Given the description of an element on the screen output the (x, y) to click on. 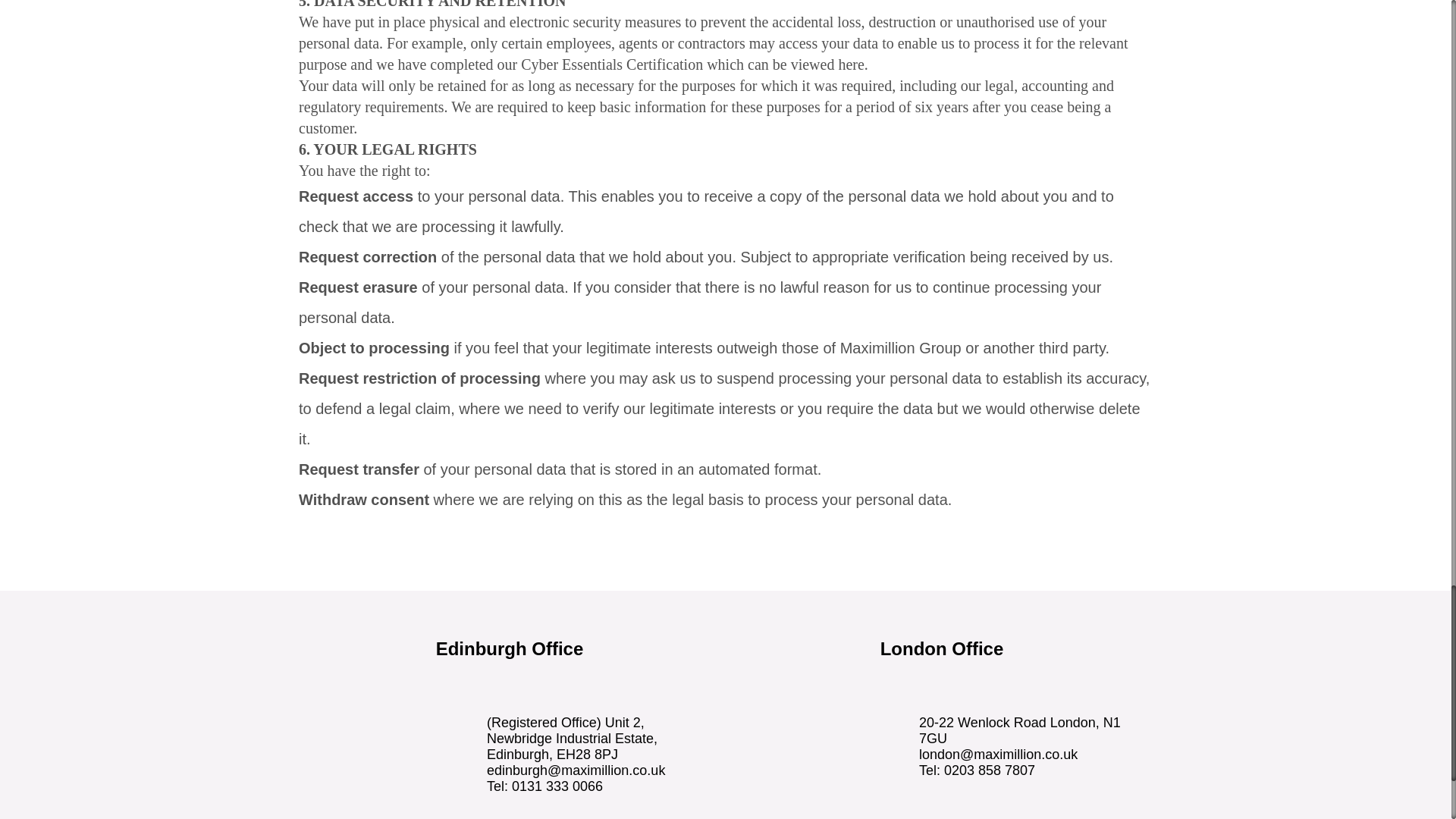
Tel: 0131 333 0066 (544, 785)
Tel: 0203 858 7807 (976, 770)
